Given the description of an element on the screen output the (x, y) to click on. 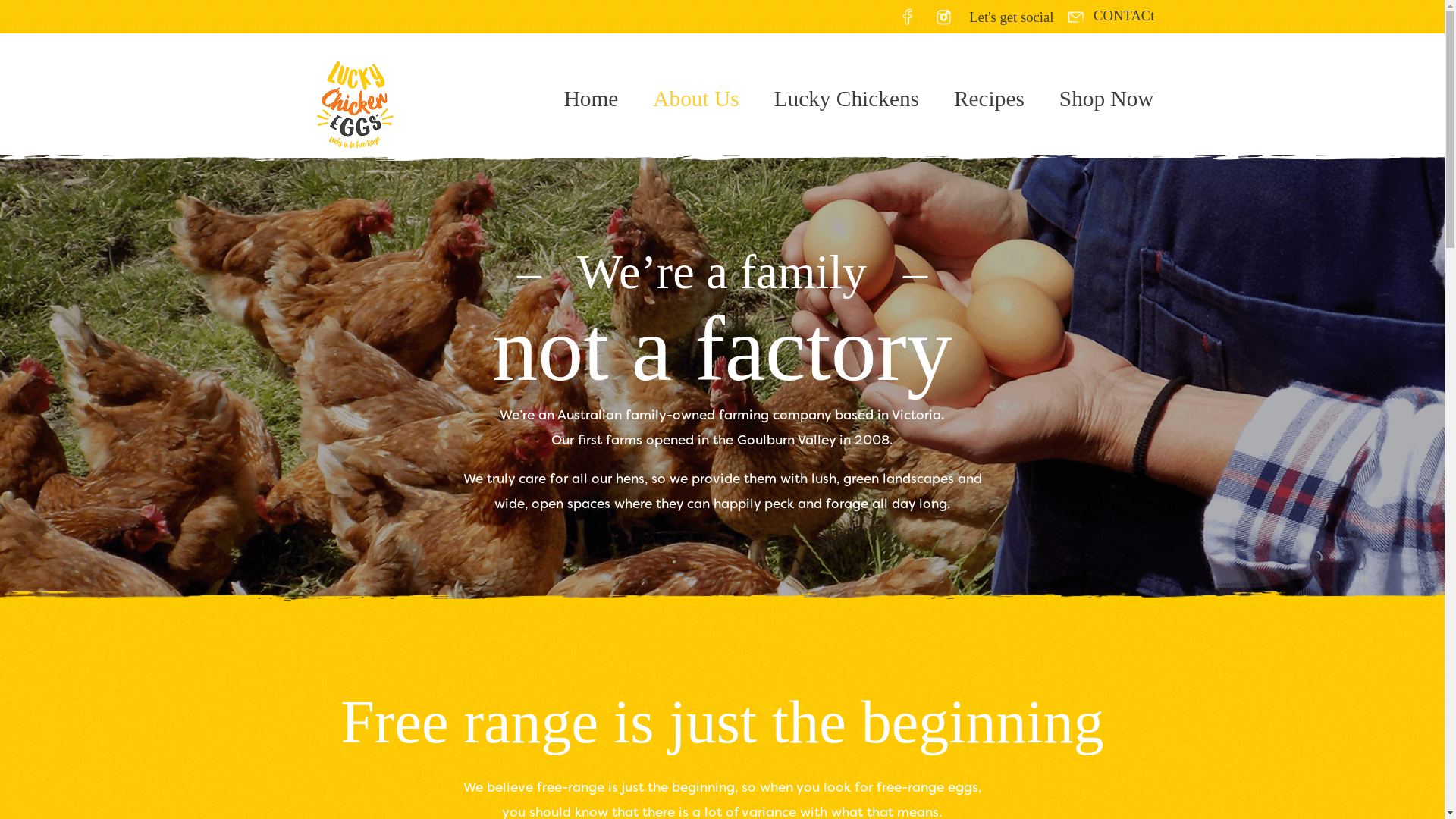
Shop Now Element type: text (1097, 98)
Home Element type: text (591, 98)
Lucky Chickens Element type: text (846, 98)
About Us Element type: text (695, 98)
CONTACt Element type: text (1109, 15)
Lucky Chicken Eggs Element type: text (354, 101)
Recipes Element type: text (988, 98)
